Given the description of an element on the screen output the (x, y) to click on. 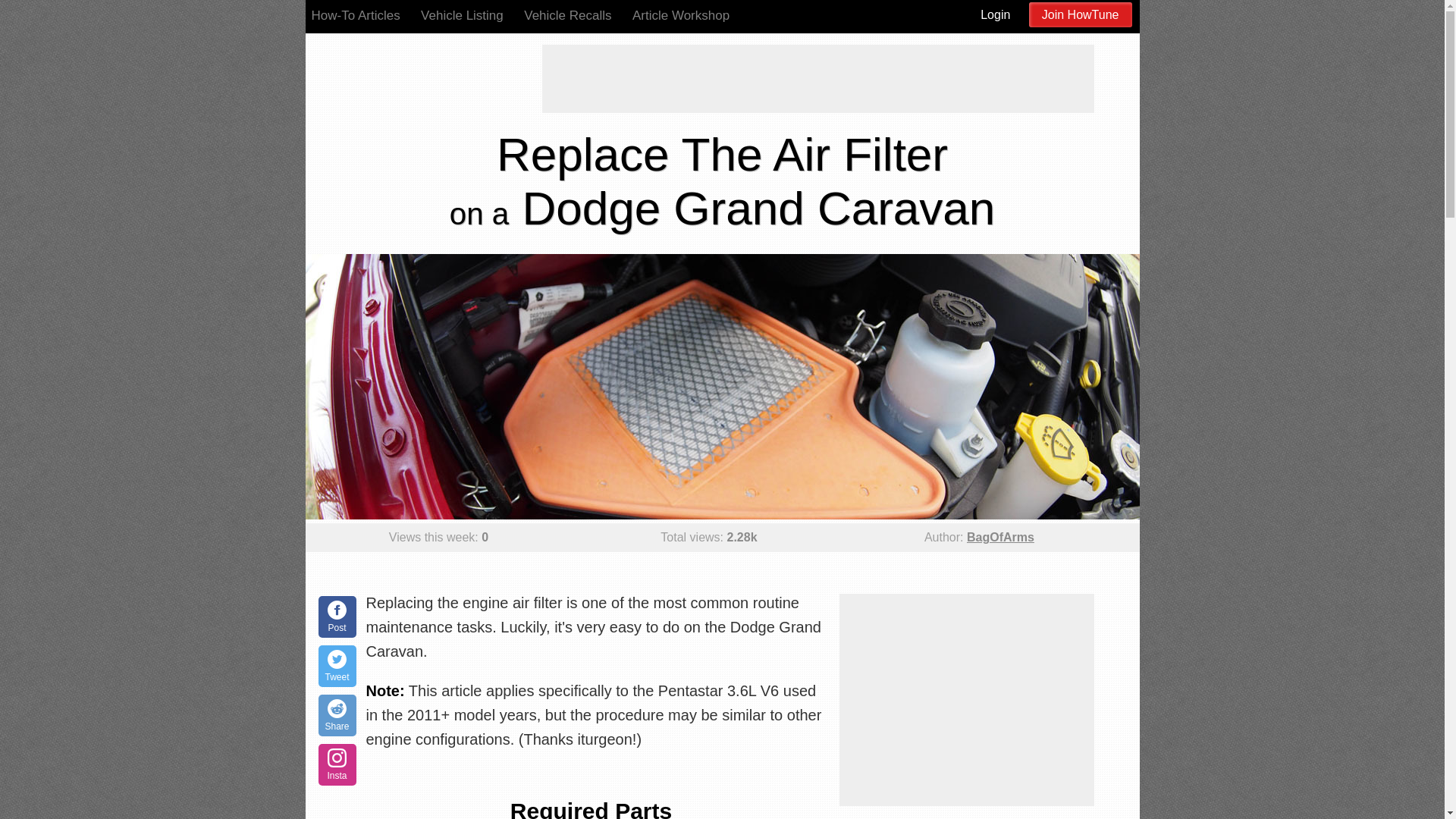
Vehicle Listing (461, 15)
Insta (337, 764)
How-To Articles (354, 15)
Article Workshop (680, 15)
HowTune (414, 67)
Join HowTune (1080, 14)
Post (337, 617)
Home (414, 67)
Tweet (337, 666)
Vehicle Recalls (567, 15)
